Given the description of an element on the screen output the (x, y) to click on. 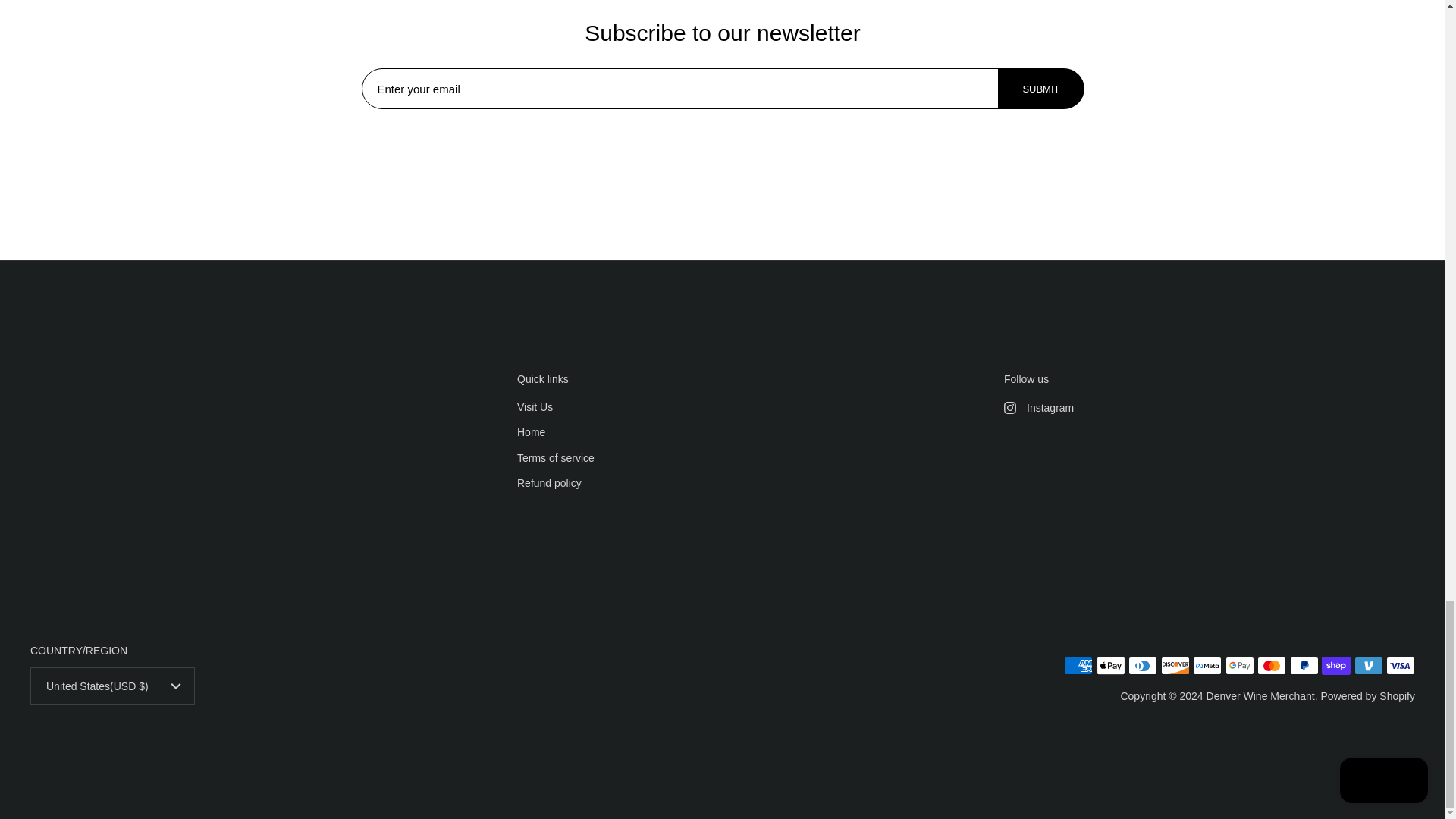
Instagram (1209, 408)
SUBMIT (1040, 89)
SUBMIT (1040, 87)
American Express (1078, 665)
Apple Pay (1110, 665)
Discover (1174, 665)
Powered by Shopify (1367, 695)
Denver Wine Merchant (1260, 695)
Terms of service (555, 459)
Refund policy (548, 483)
